Given the description of an element on the screen output the (x, y) to click on. 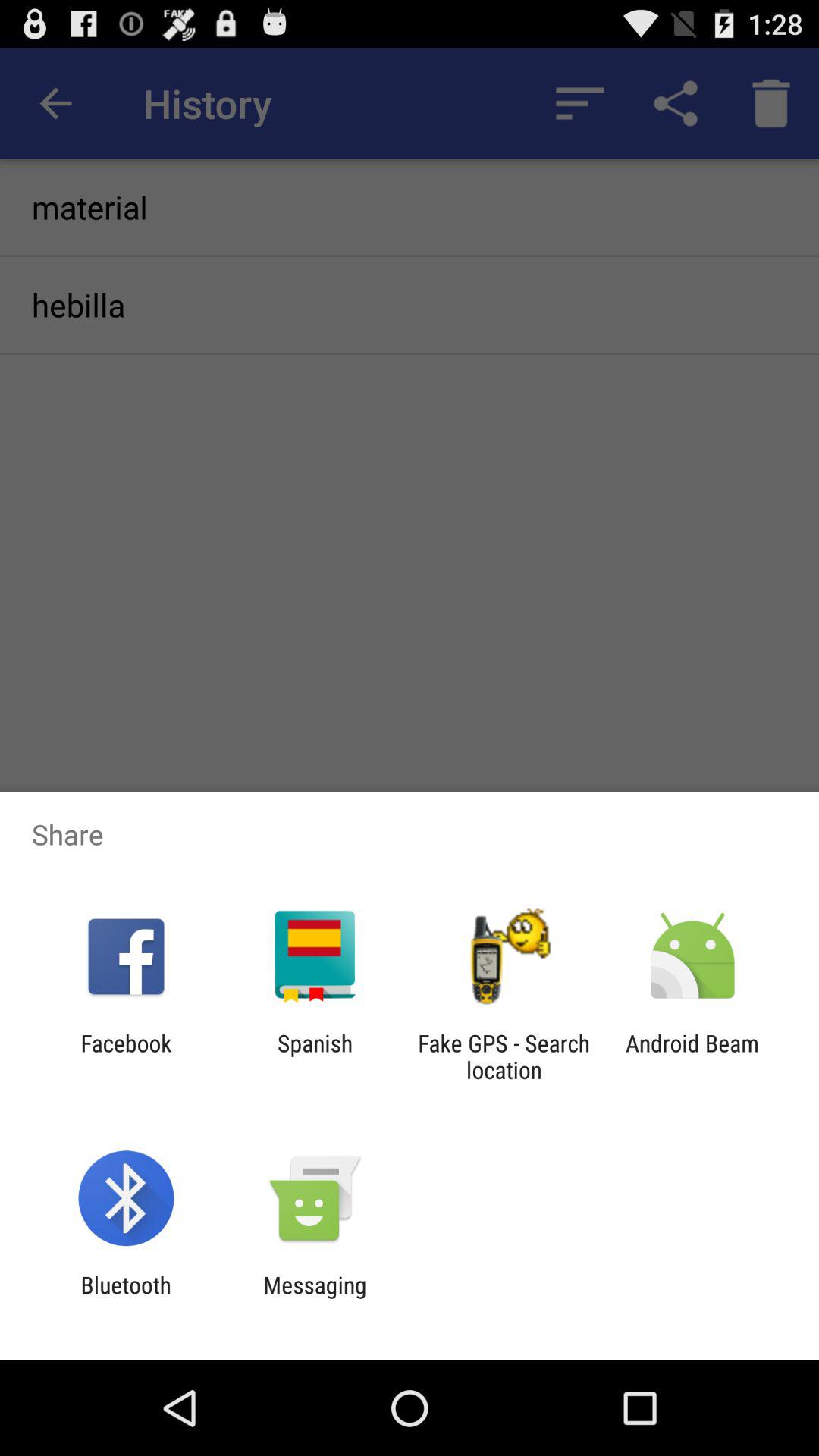
click the app next to facebook item (314, 1056)
